Given the description of an element on the screen output the (x, y) to click on. 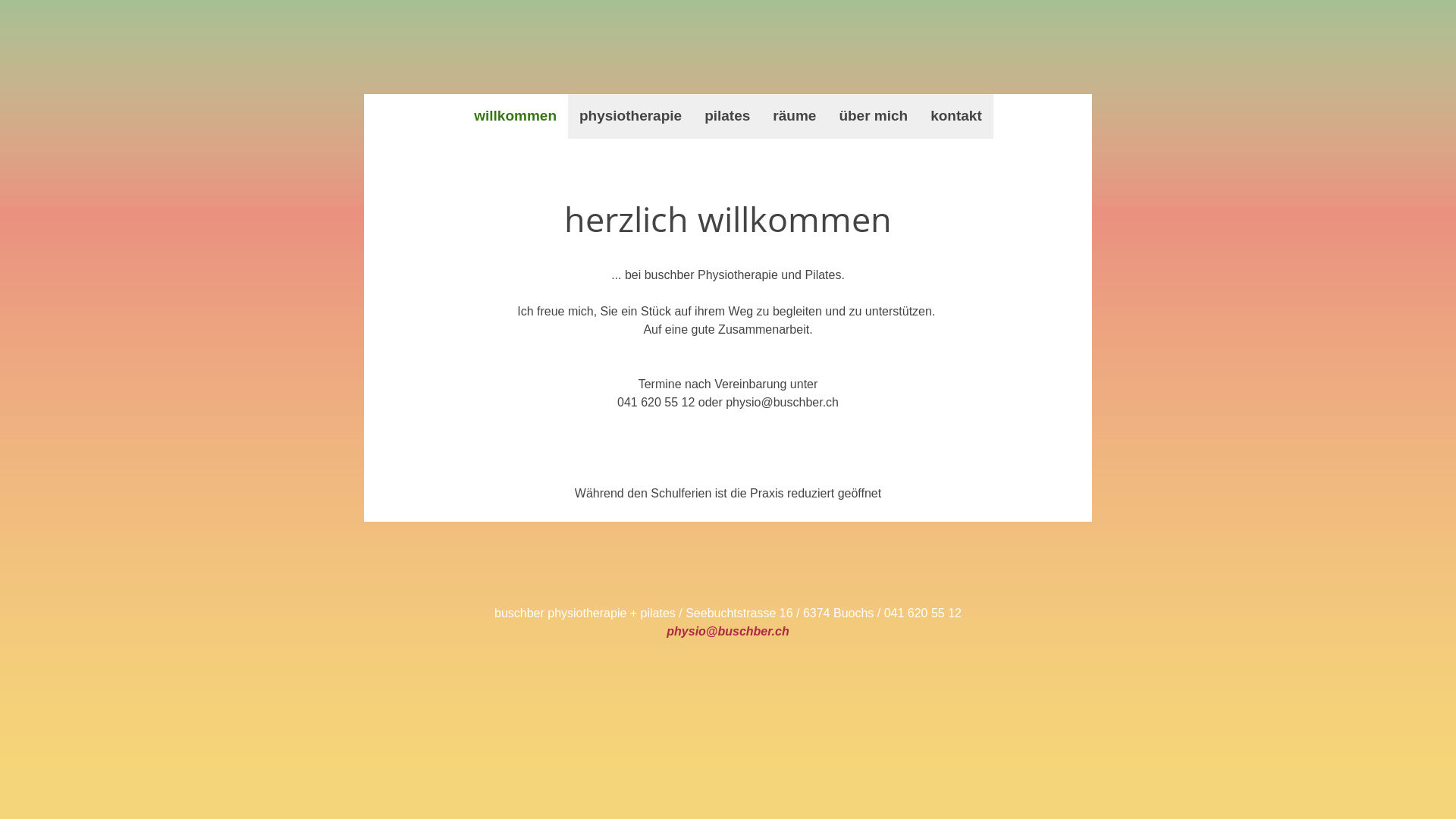
pilates Element type: text (727, 116)
kontakt Element type: text (956, 116)
physio@buschber.ch Element type: text (727, 630)
physiotherapie Element type: text (630, 116)
willkommen Element type: text (514, 116)
